Given the description of an element on the screen output the (x, y) to click on. 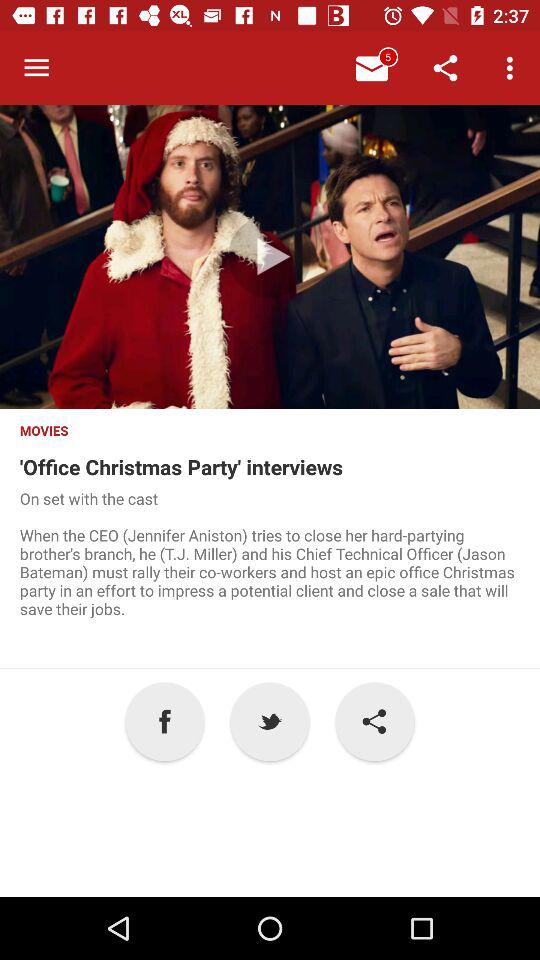
tap icon next to the a (269, 721)
